Given the description of an element on the screen output the (x, y) to click on. 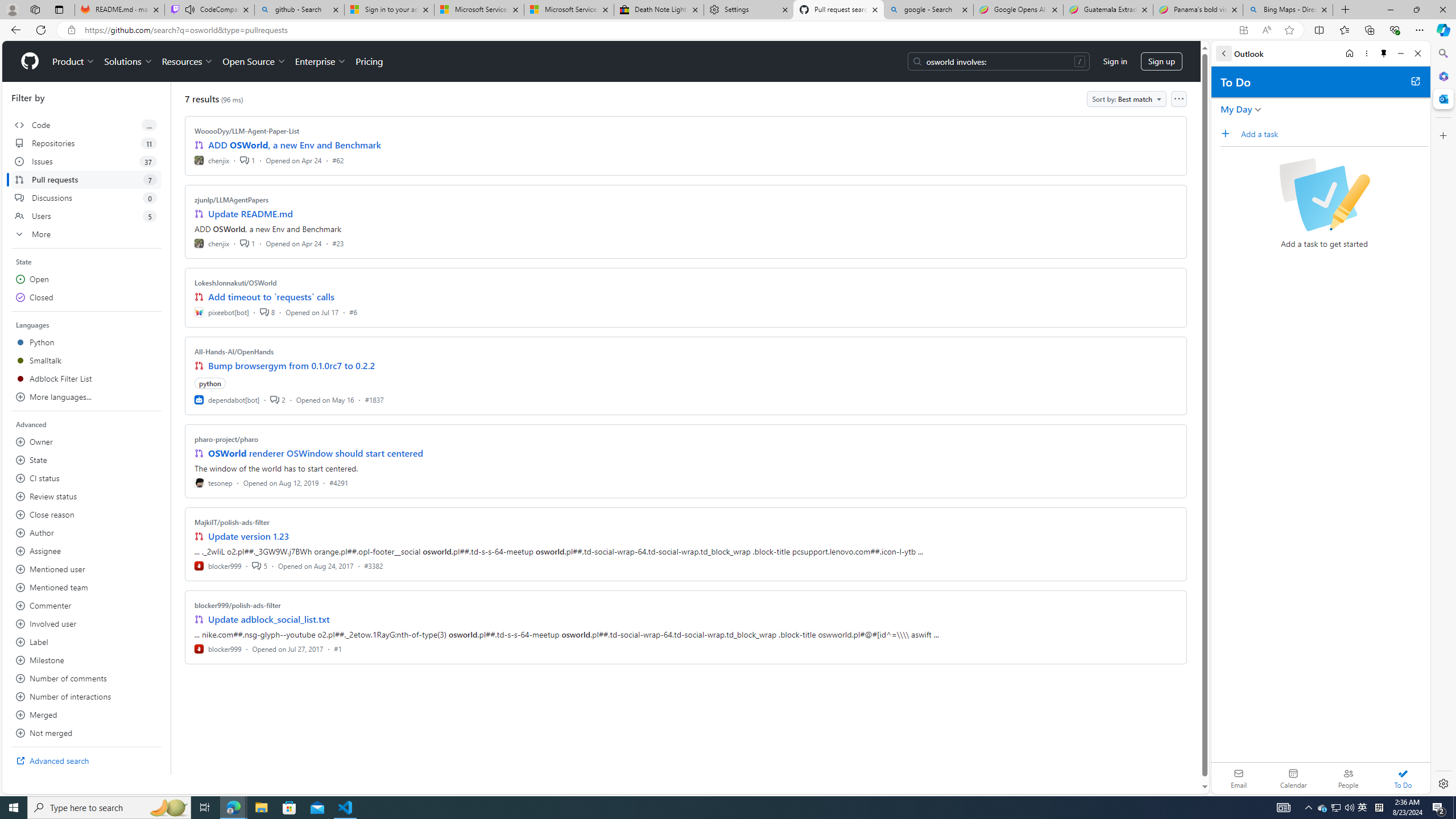
Sign up (1161, 61)
Add timeout to `requests` calls (271, 296)
Product (74, 60)
Update README.md (250, 213)
More (86, 234)
